Given the description of an element on the screen output the (x, y) to click on. 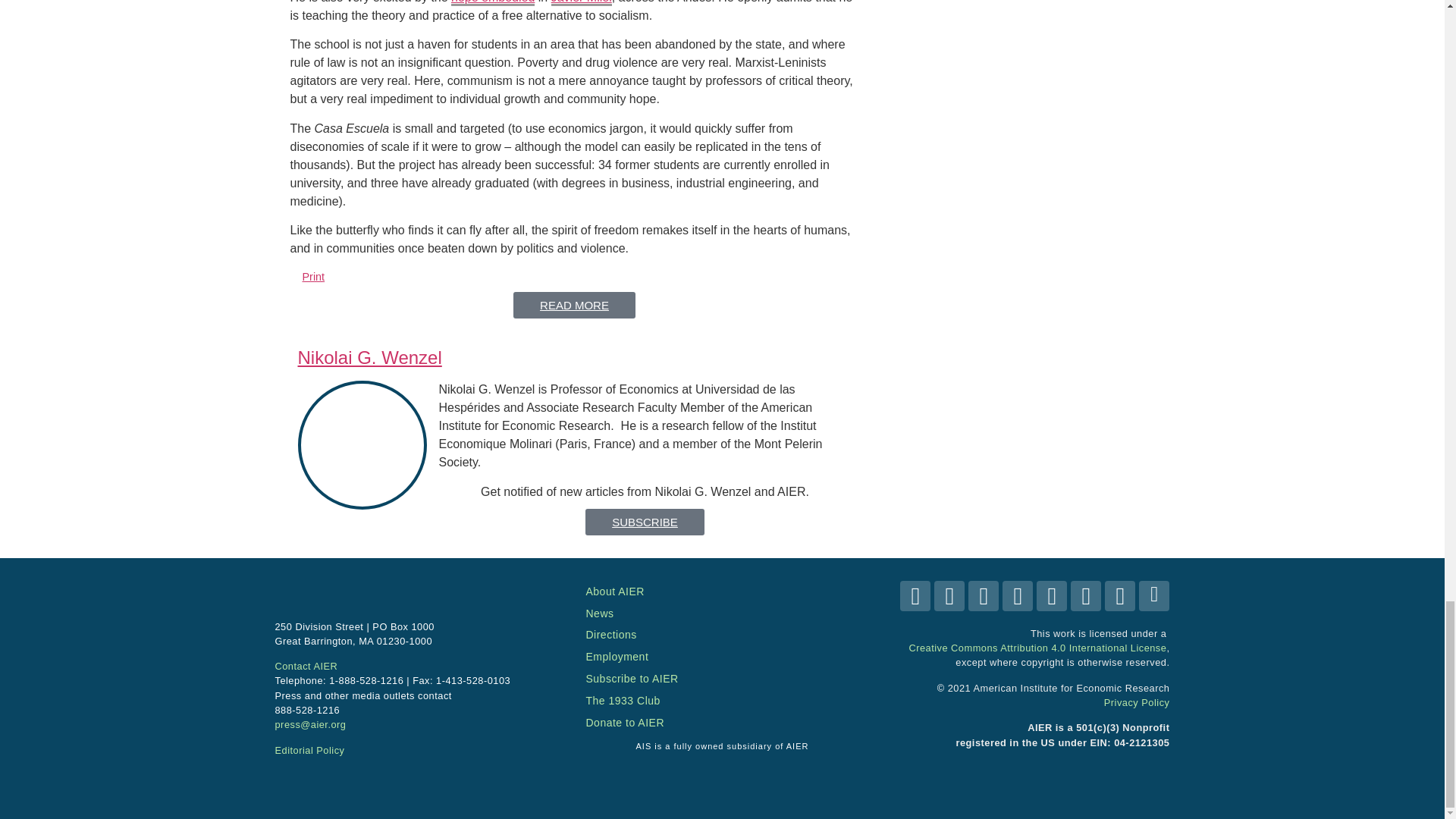
Privacy Policy (1136, 702)
